Given the description of an element on the screen output the (x, y) to click on. 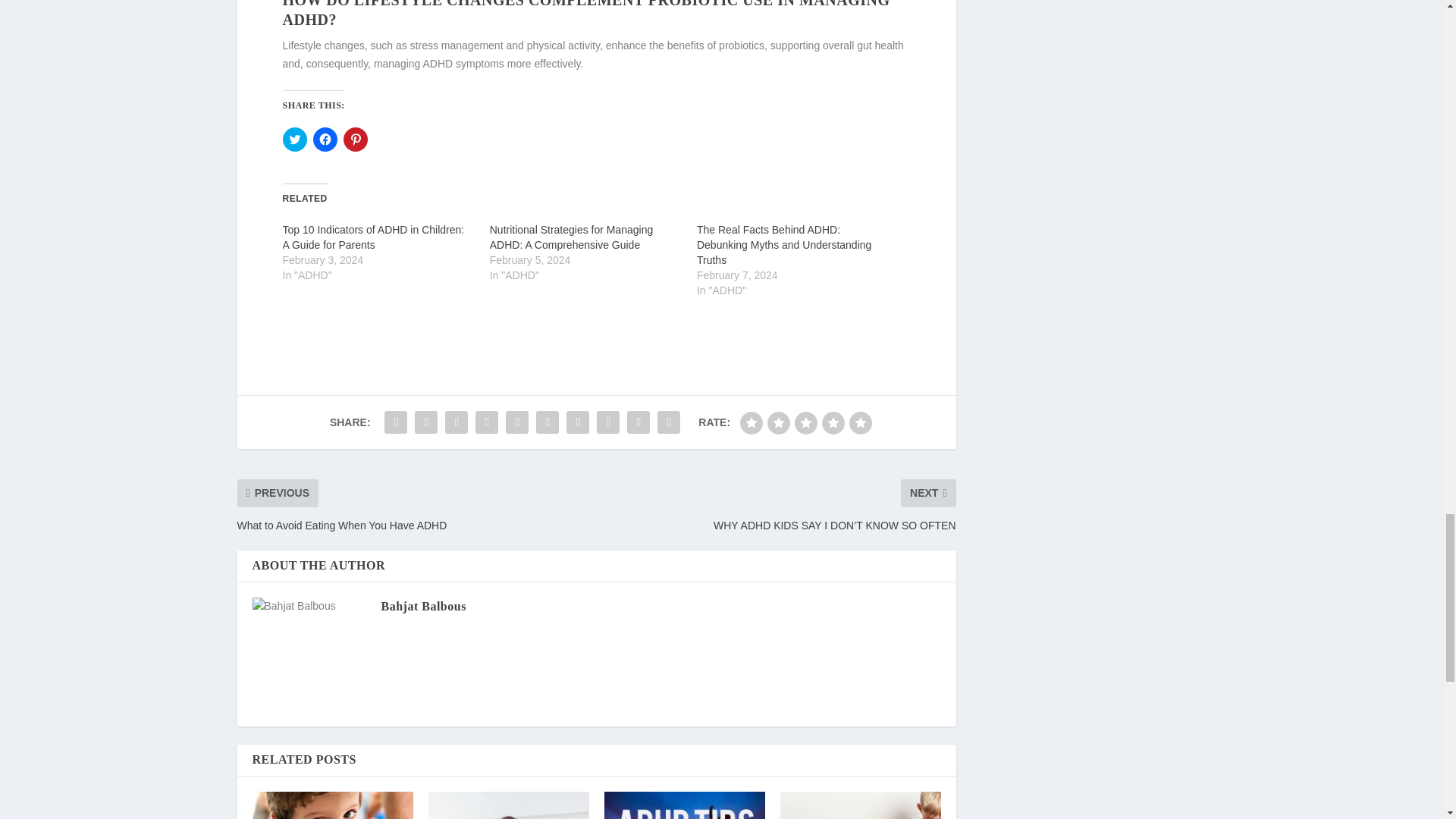
Click to share on Facebook (324, 139)
Click to share on Twitter (293, 139)
Click to share on Pinterest (354, 139)
Top 10 Indicators of ADHD in Children: A Guide for Parents (373, 236)
Top 10 Indicators of ADHD in Children: A Guide for Parents (373, 236)
